Given the description of an element on the screen output the (x, y) to click on. 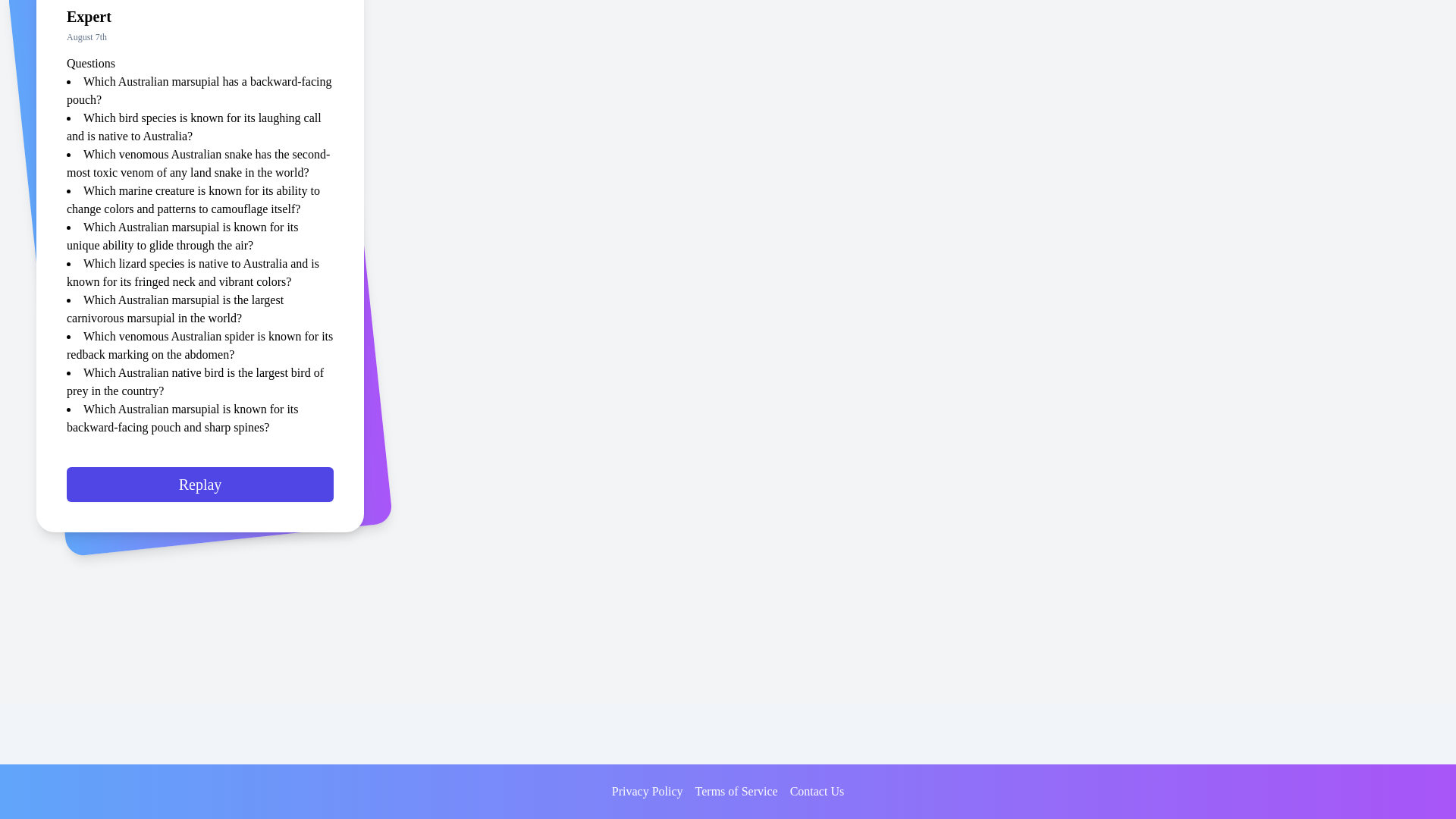
Privacy Policy (646, 791)
Contact Us (817, 791)
Replay (199, 491)
Terms of Service (736, 791)
